Given the description of an element on the screen output the (x, y) to click on. 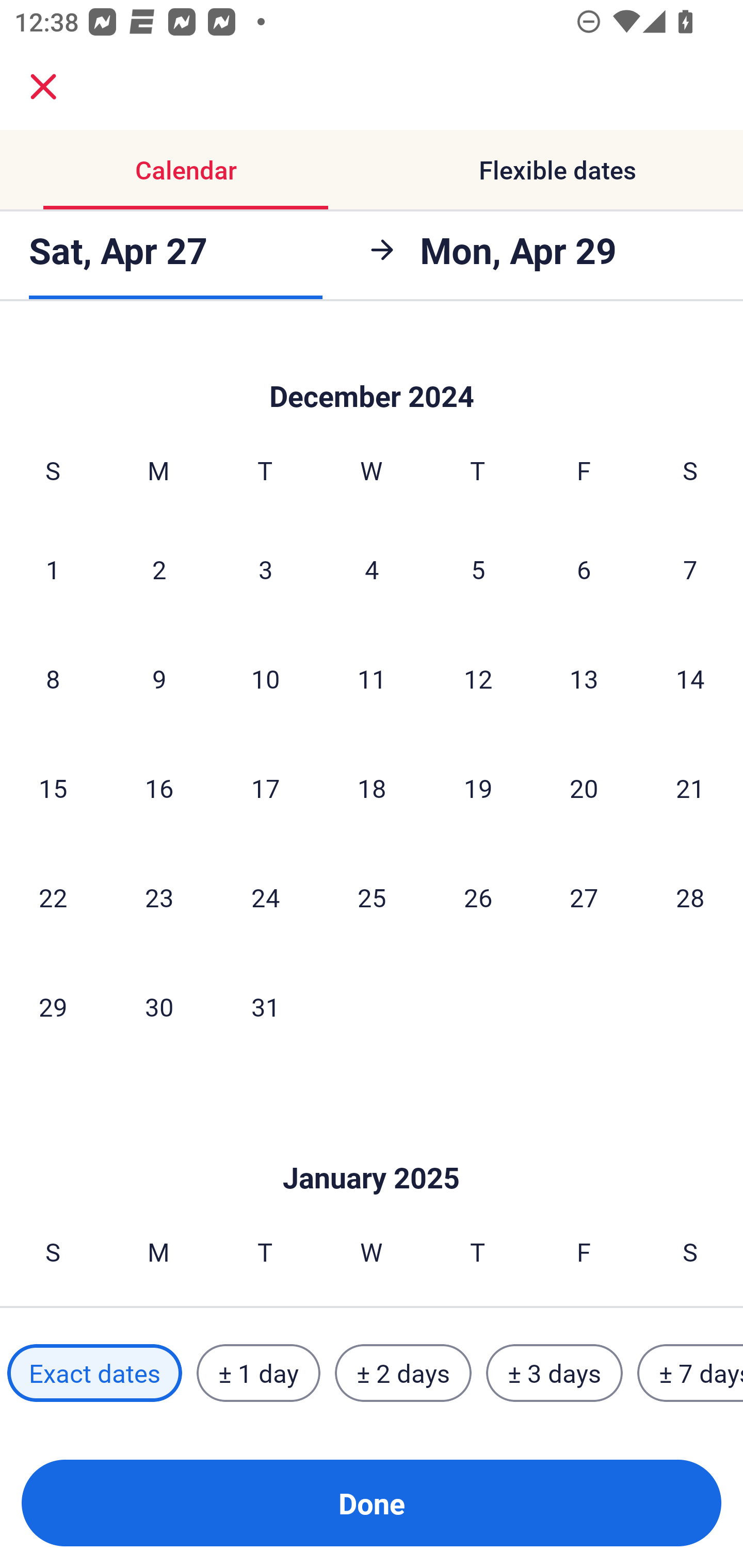
close. (43, 86)
Flexible dates (557, 170)
Skip to Done (371, 369)
1 Sunday, December 1, 2024 (53, 568)
2 Monday, December 2, 2024 (159, 568)
3 Tuesday, December 3, 2024 (265, 568)
4 Wednesday, December 4, 2024 (371, 568)
5 Thursday, December 5, 2024 (477, 568)
6 Friday, December 6, 2024 (584, 568)
7 Saturday, December 7, 2024 (690, 568)
8 Sunday, December 8, 2024 (53, 677)
9 Monday, December 9, 2024 (159, 677)
10 Tuesday, December 10, 2024 (265, 677)
11 Wednesday, December 11, 2024 (371, 677)
12 Thursday, December 12, 2024 (477, 677)
13 Friday, December 13, 2024 (584, 677)
14 Saturday, December 14, 2024 (690, 677)
15 Sunday, December 15, 2024 (53, 787)
16 Monday, December 16, 2024 (159, 787)
17 Tuesday, December 17, 2024 (265, 787)
18 Wednesday, December 18, 2024 (371, 787)
19 Thursday, December 19, 2024 (477, 787)
20 Friday, December 20, 2024 (584, 787)
21 Saturday, December 21, 2024 (690, 787)
22 Sunday, December 22, 2024 (53, 896)
23 Monday, December 23, 2024 (159, 896)
24 Tuesday, December 24, 2024 (265, 896)
25 Wednesday, December 25, 2024 (371, 896)
26 Thursday, December 26, 2024 (477, 896)
27 Friday, December 27, 2024 (584, 896)
28 Saturday, December 28, 2024 (690, 896)
29 Sunday, December 29, 2024 (53, 1006)
30 Monday, December 30, 2024 (159, 1006)
31 Tuesday, December 31, 2024 (265, 1006)
Skip to Done (371, 1146)
Exact dates (94, 1372)
± 1 day (258, 1372)
± 2 days (403, 1372)
± 3 days (553, 1372)
± 7 days (690, 1372)
Done (371, 1502)
